Given the description of an element on the screen output the (x, y) to click on. 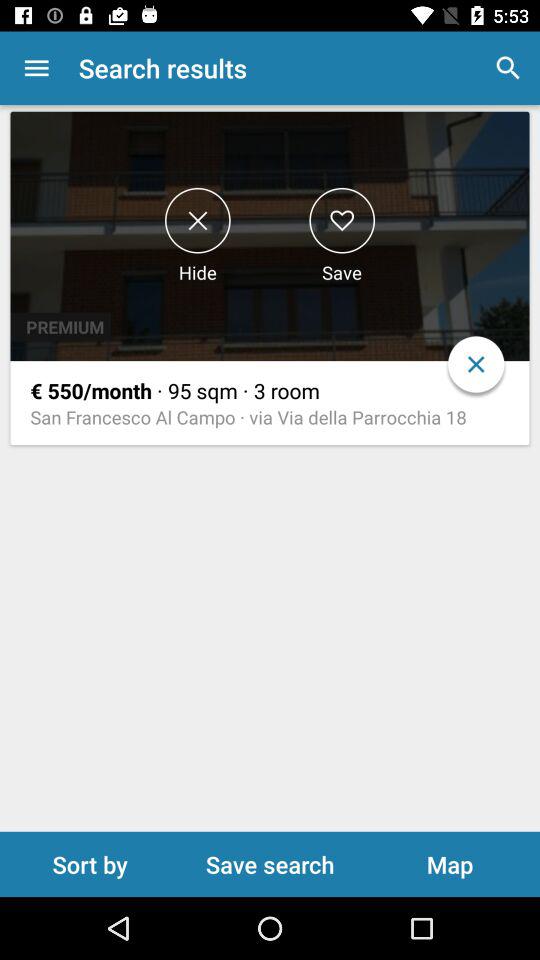
hide search result (197, 220)
